Given the description of an element on the screen output the (x, y) to click on. 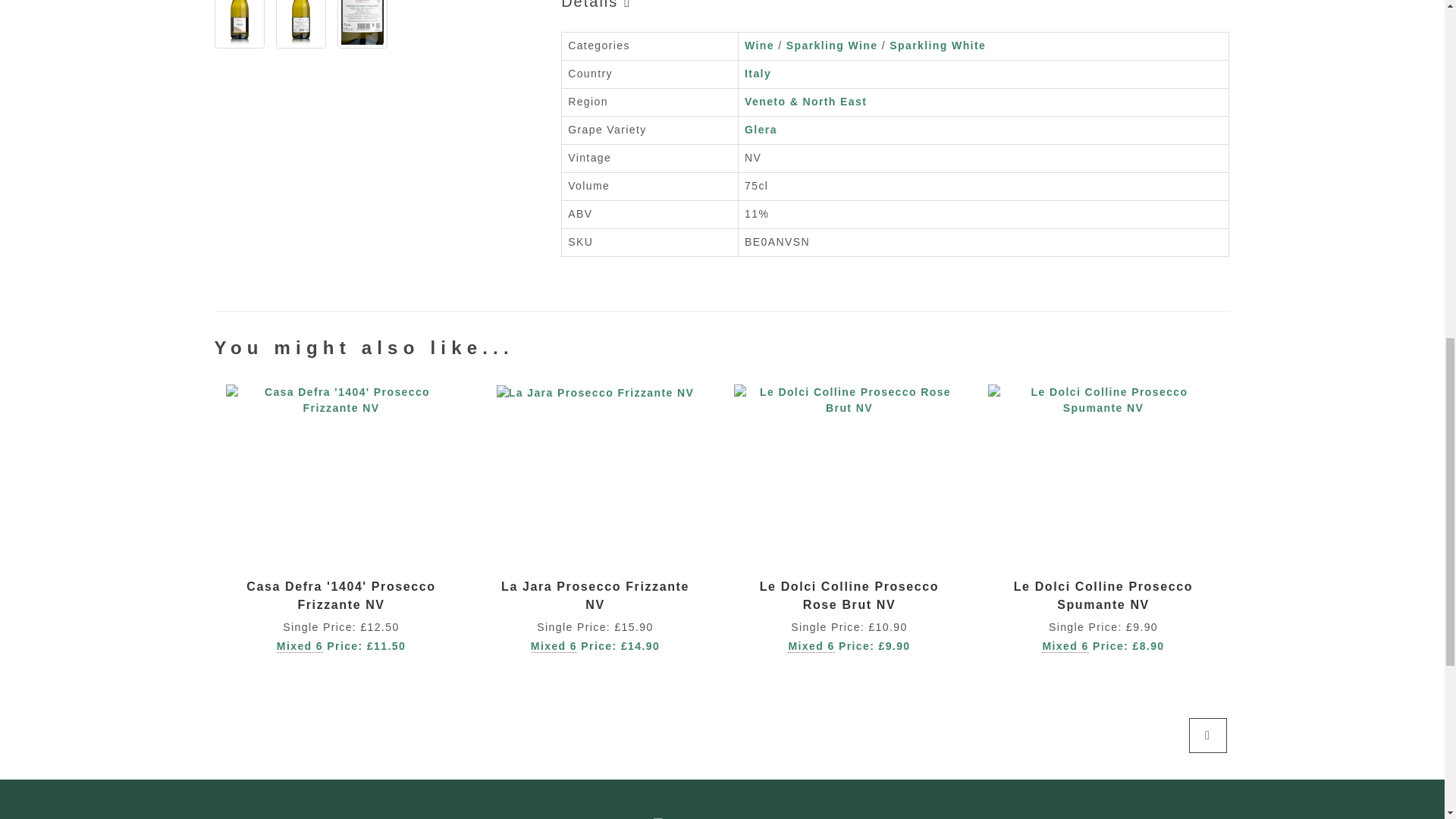
La Jara Prosecco Frizzante NV (594, 594)
Le Dolci Colline Prosecco Spumante NV (1103, 594)
Casa Defra '1404' Prosecco Frizzante NV (340, 594)
Le Dolci Colline Prosecco Rose Brut NV (849, 594)
